Given the description of an element on the screen output the (x, y) to click on. 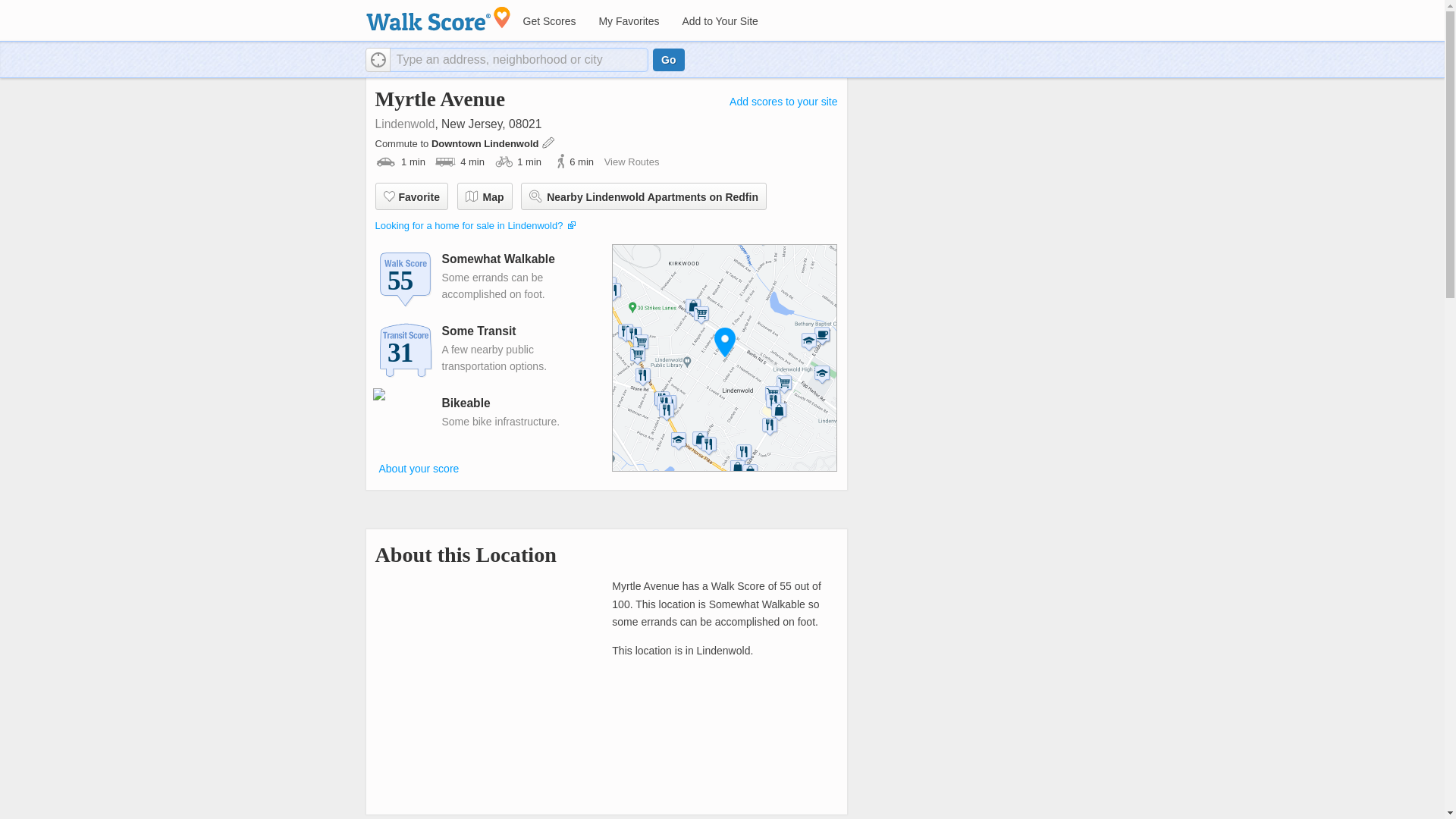
My Favorites (628, 21)
View Routes (631, 161)
Add to Your Site (719, 21)
Get Scores (548, 21)
Favorite (410, 195)
Lindenwold (403, 123)
Map (484, 195)
Go (668, 59)
Nearby Lindenwold Apartments on Redfin (644, 195)
Downtown Lindenwold (485, 143)
